Given the description of an element on the screen output the (x, y) to click on. 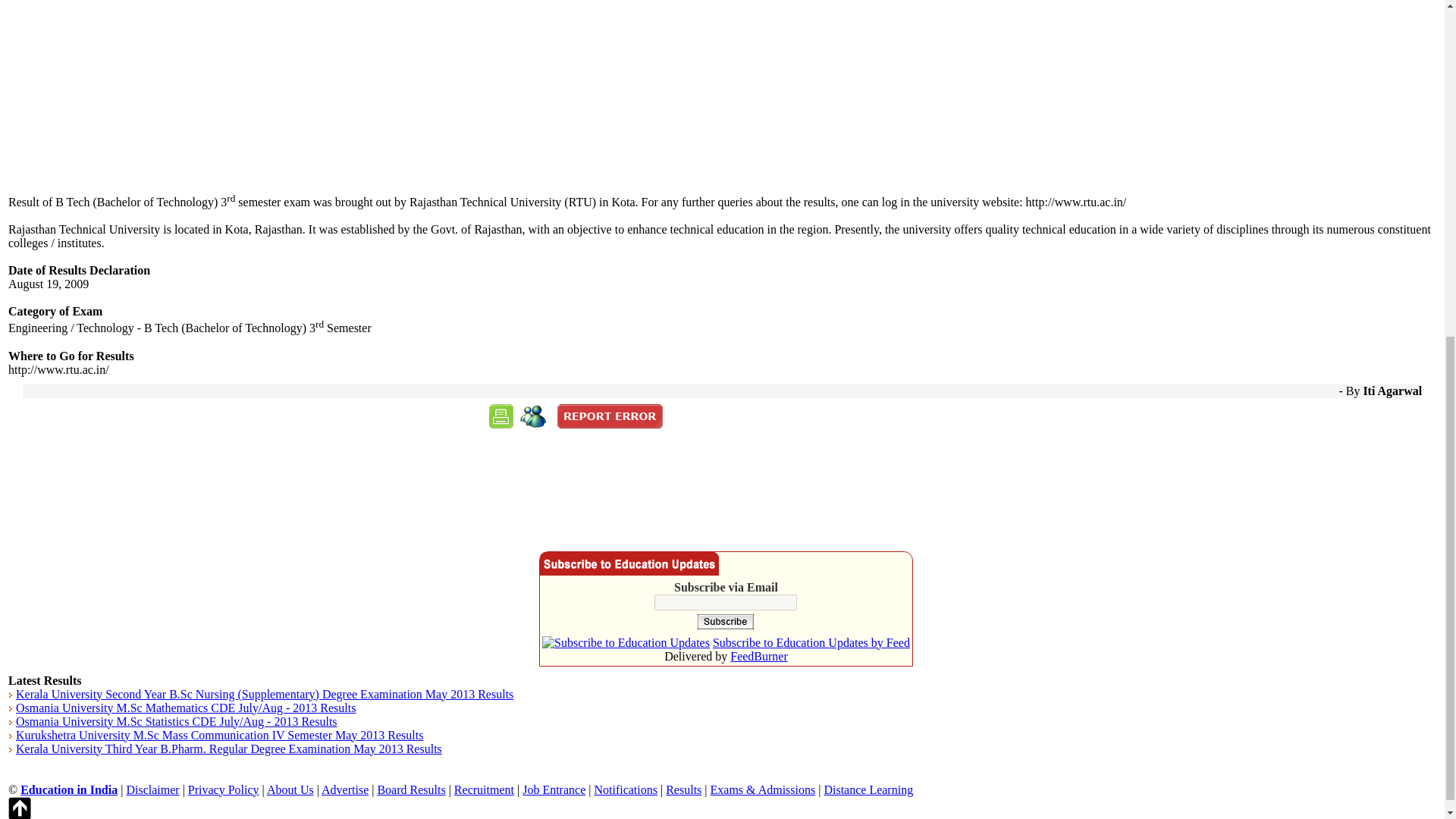
Disclaimer (152, 789)
Distance Learning (868, 789)
Education in India (68, 789)
Notifications (626, 789)
Results (683, 789)
Recommend This Site (533, 415)
FeedBurner (758, 656)
Subscribe to Education Updates by Feed (811, 642)
